Given the description of an element on the screen output the (x, y) to click on. 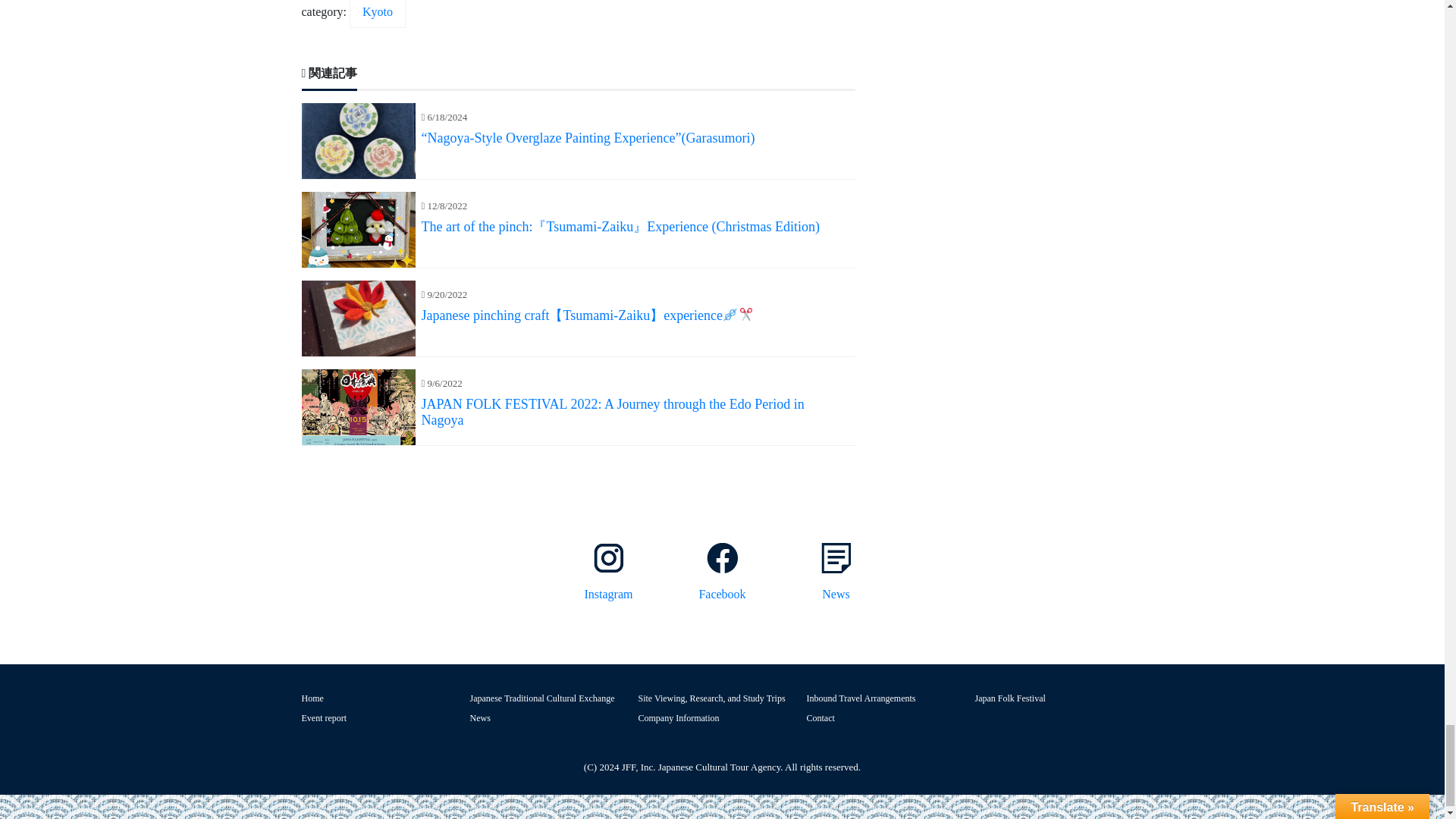
News (835, 572)
Kyoto (377, 13)
Facebook (721, 572)
Instagram (608, 572)
Instagram (608, 572)
